Given the description of an element on the screen output the (x, y) to click on. 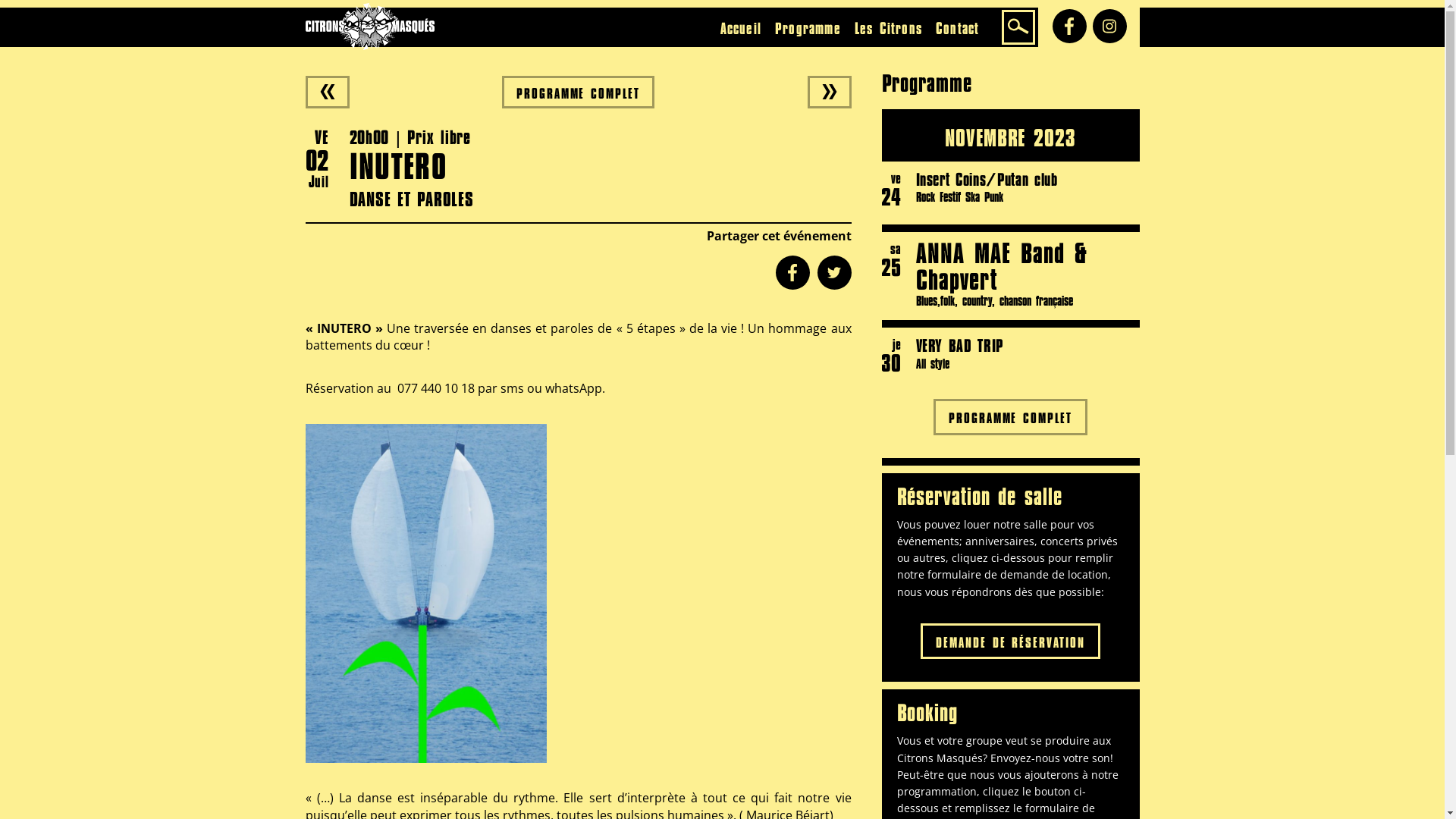
je
30
VERY BAD TRIP
All style Element type: text (1010, 355)
Accueil Element type: text (740, 27)
PROGRAMME COMPLET Element type: text (1010, 416)
PROGRAMME COMPLET Element type: text (578, 91)
ve
24
Insert Coins/Putan club
Rock Festif Ska Punk Element type: text (1010, 192)
Les Citrons Element type: text (887, 27)
Facebook share Element type: hover (792, 272)
Programme Element type: text (807, 27)
Contact Element type: text (956, 27)
Twitter share Element type: hover (834, 272)
